Given the description of an element on the screen output the (x, y) to click on. 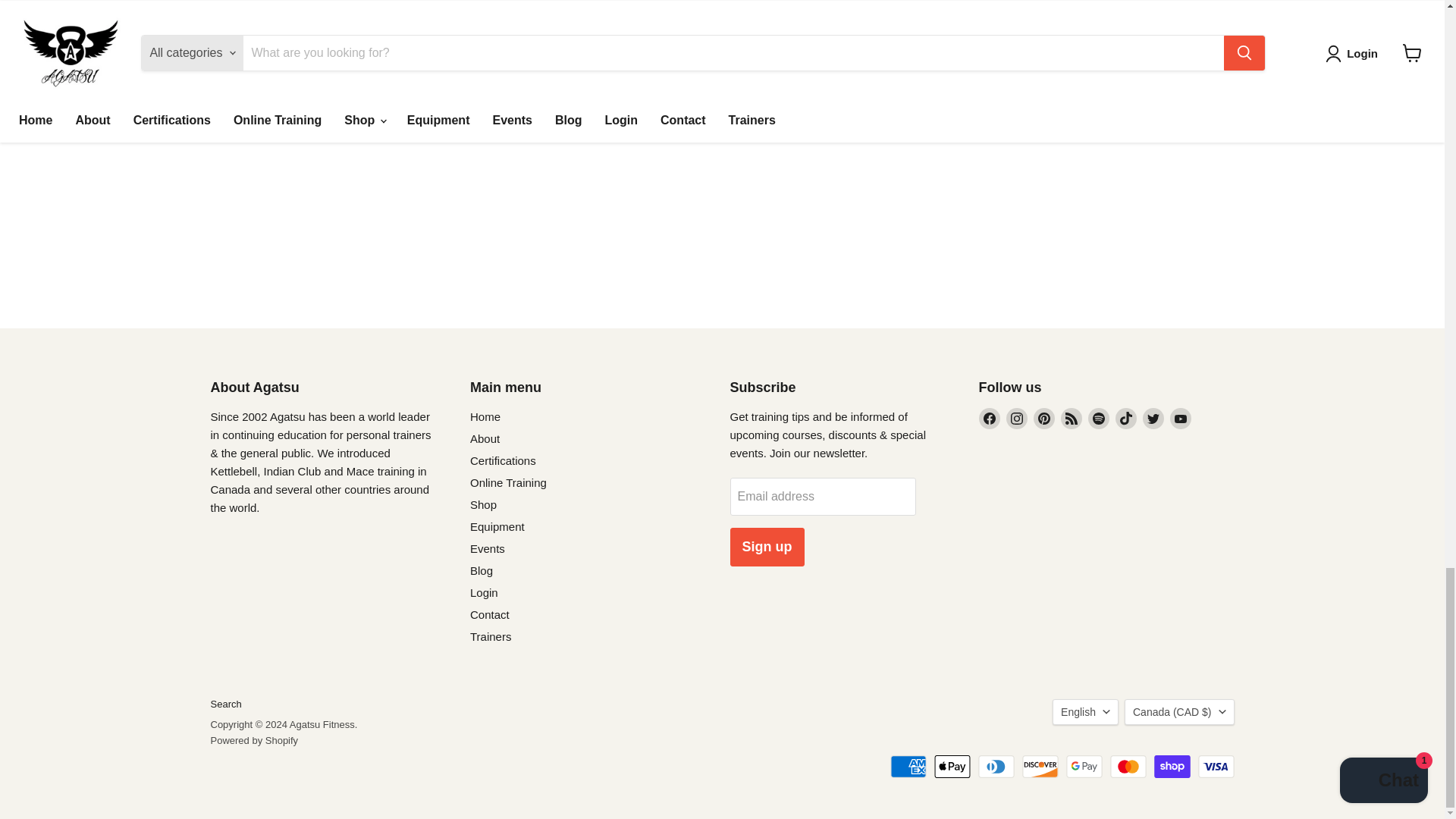
Facebook (988, 418)
Twitter (1152, 418)
Google Pay (1083, 766)
Diners Club (996, 766)
American Express (907, 766)
Apple Pay (952, 766)
Spotify (1097, 418)
TikTok (1125, 418)
YouTube (1180, 418)
Shop Pay (1172, 766)
Pinterest (1043, 418)
RSS (1070, 418)
Instagram (1016, 418)
Mastercard (1128, 766)
Discover (1040, 766)
